Given the description of an element on the screen output the (x, y) to click on. 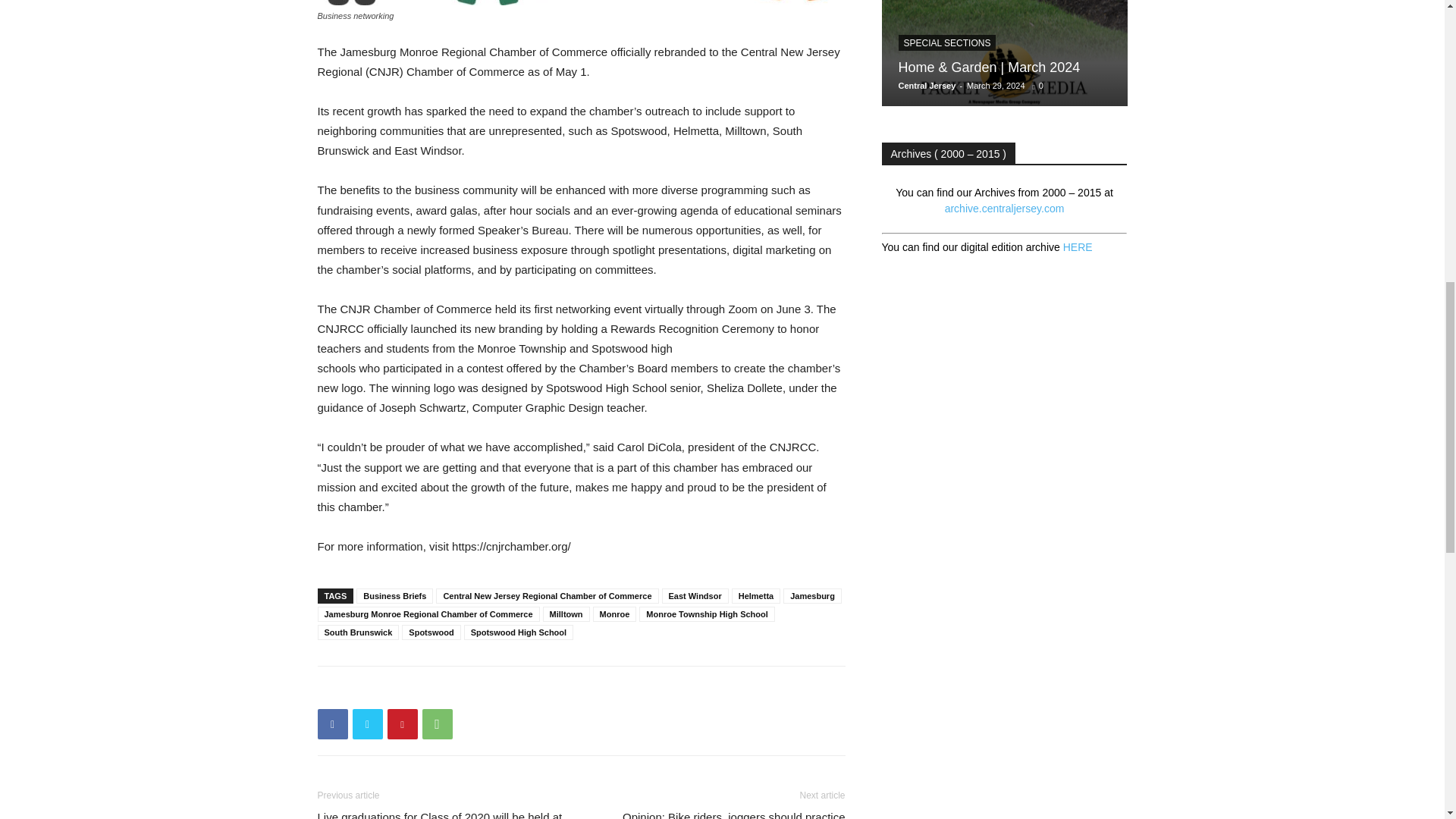
Pinterest (401, 724)
Twitter (366, 724)
WhatsApp (436, 724)
Facebook (332, 724)
bottomFacebookLike (430, 690)
